Given the description of an element on the screen output the (x, y) to click on. 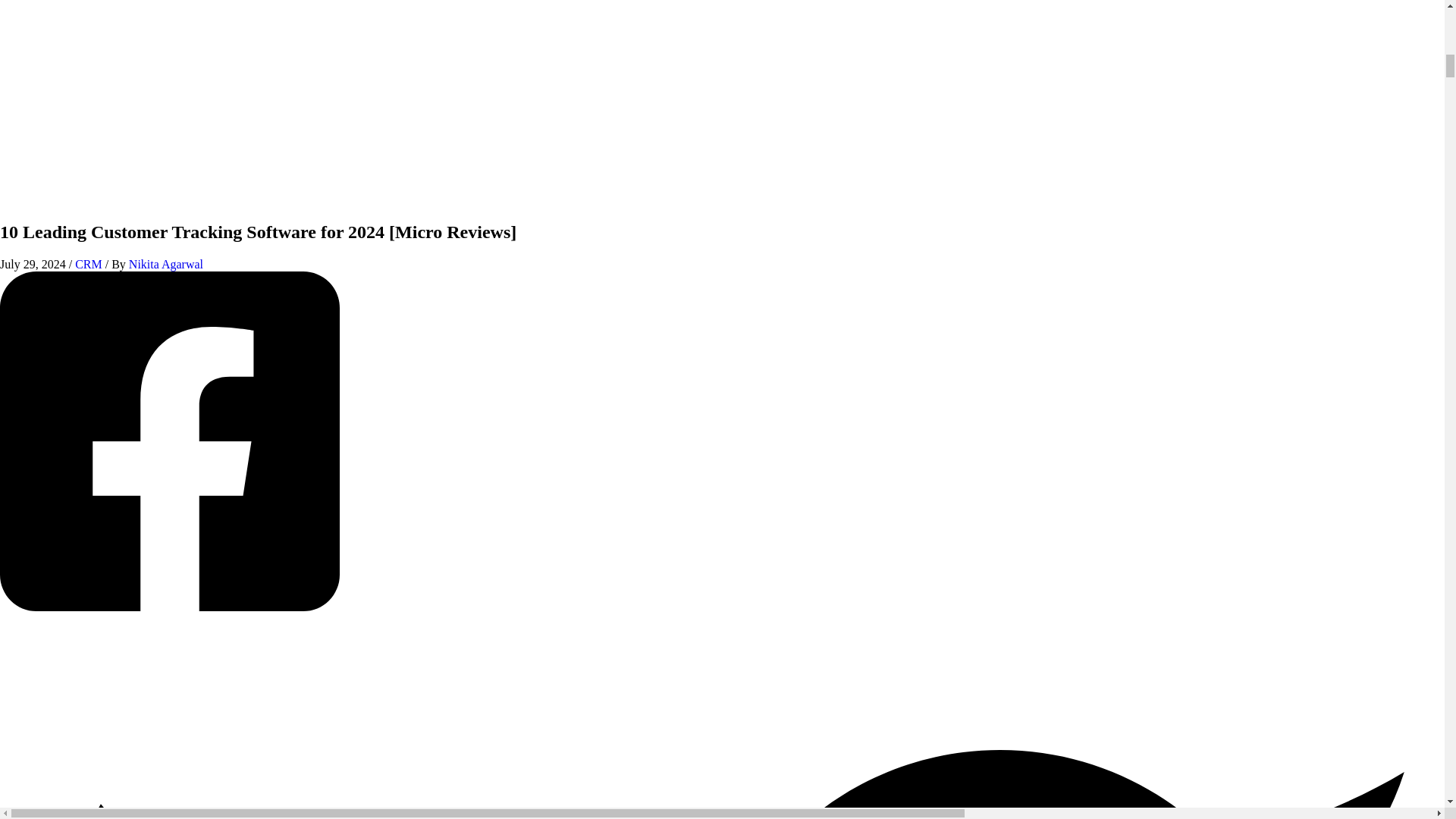
View all posts by Nikita Agarwal (166, 264)
